Given the description of an element on the screen output the (x, y) to click on. 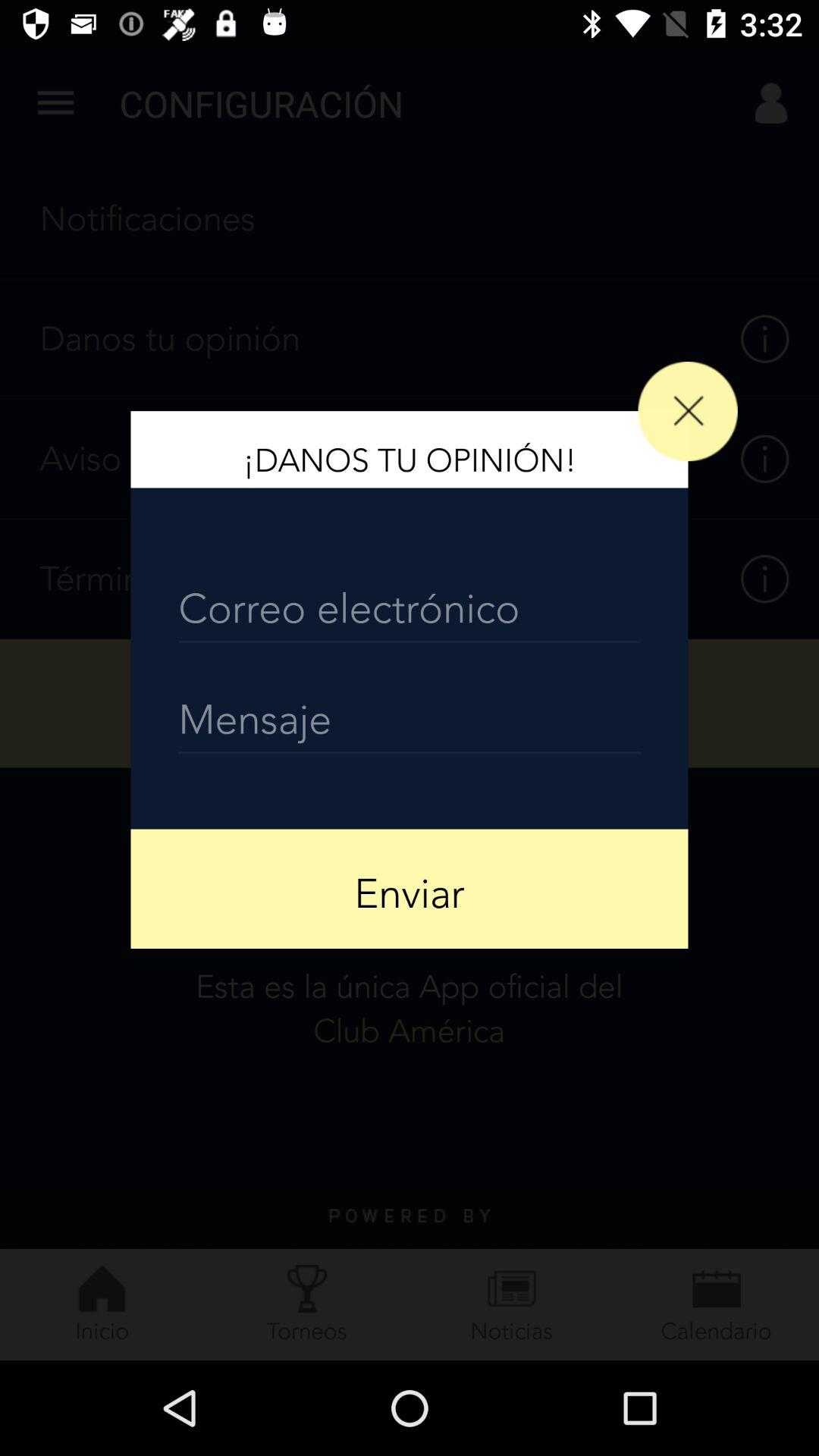
click the item above the enviar (409, 724)
